Given the description of an element on the screen output the (x, y) to click on. 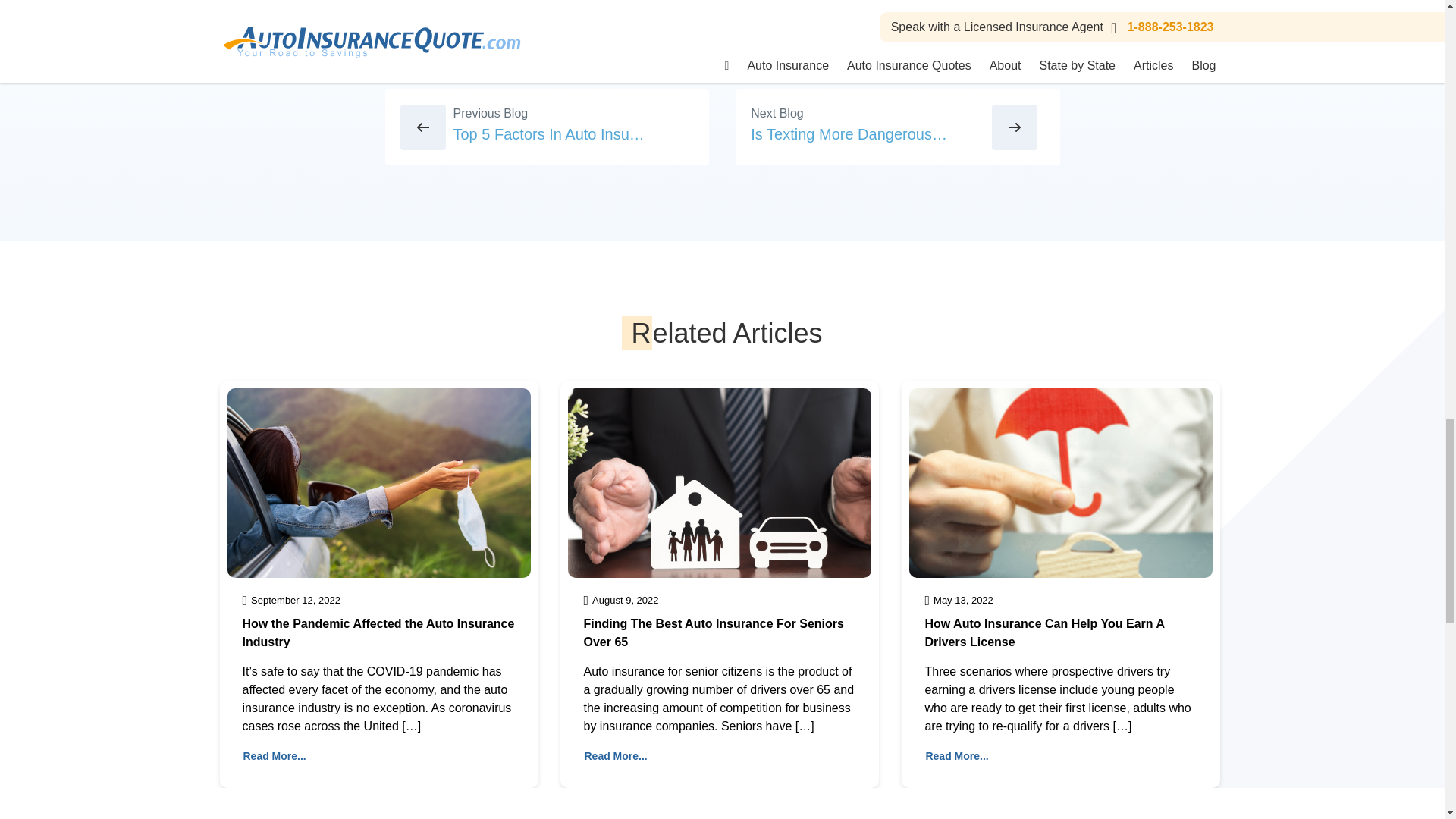
Read More... (615, 755)
Read More... (275, 755)
Read More... (956, 755)
Cell Phone Driving (903, 6)
auto insurance premium (629, 6)
Auto Insurance (500, 6)
auto insurance quote (772, 6)
